Given the description of an element on the screen output the (x, y) to click on. 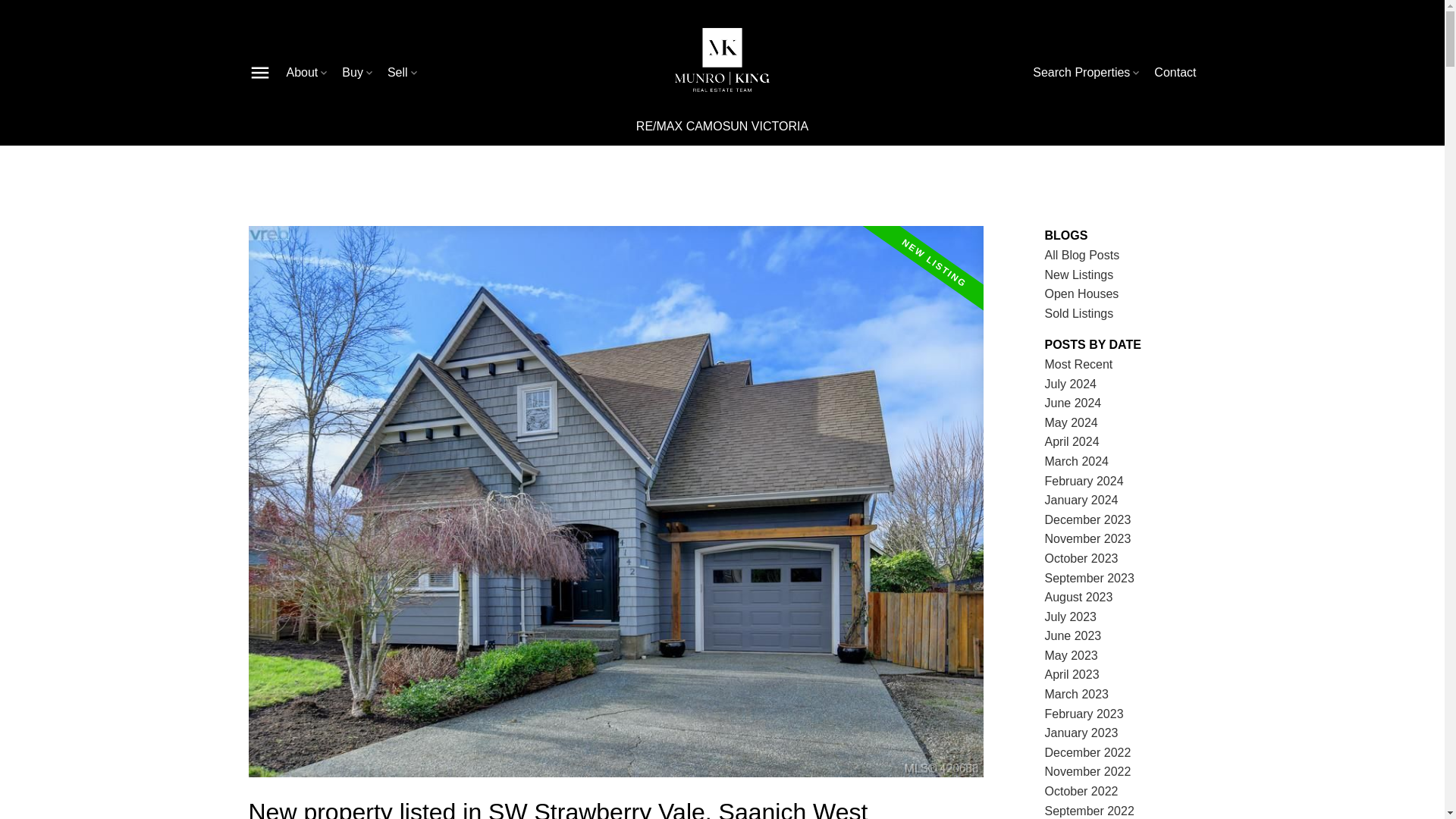
Sell (403, 72)
February 2024 (1084, 481)
September 2023 (1089, 577)
March 2024 (1077, 461)
April 2024 (1072, 440)
January 2024 (1081, 499)
Open Houses (1082, 293)
Contact (1174, 72)
July 2024 (1071, 383)
December 2023 (1088, 519)
All Blog Posts (1082, 254)
May 2024 (1071, 422)
Most Recent (1079, 364)
About (308, 72)
June 2024 (1073, 402)
